Given the description of an element on the screen output the (x, y) to click on. 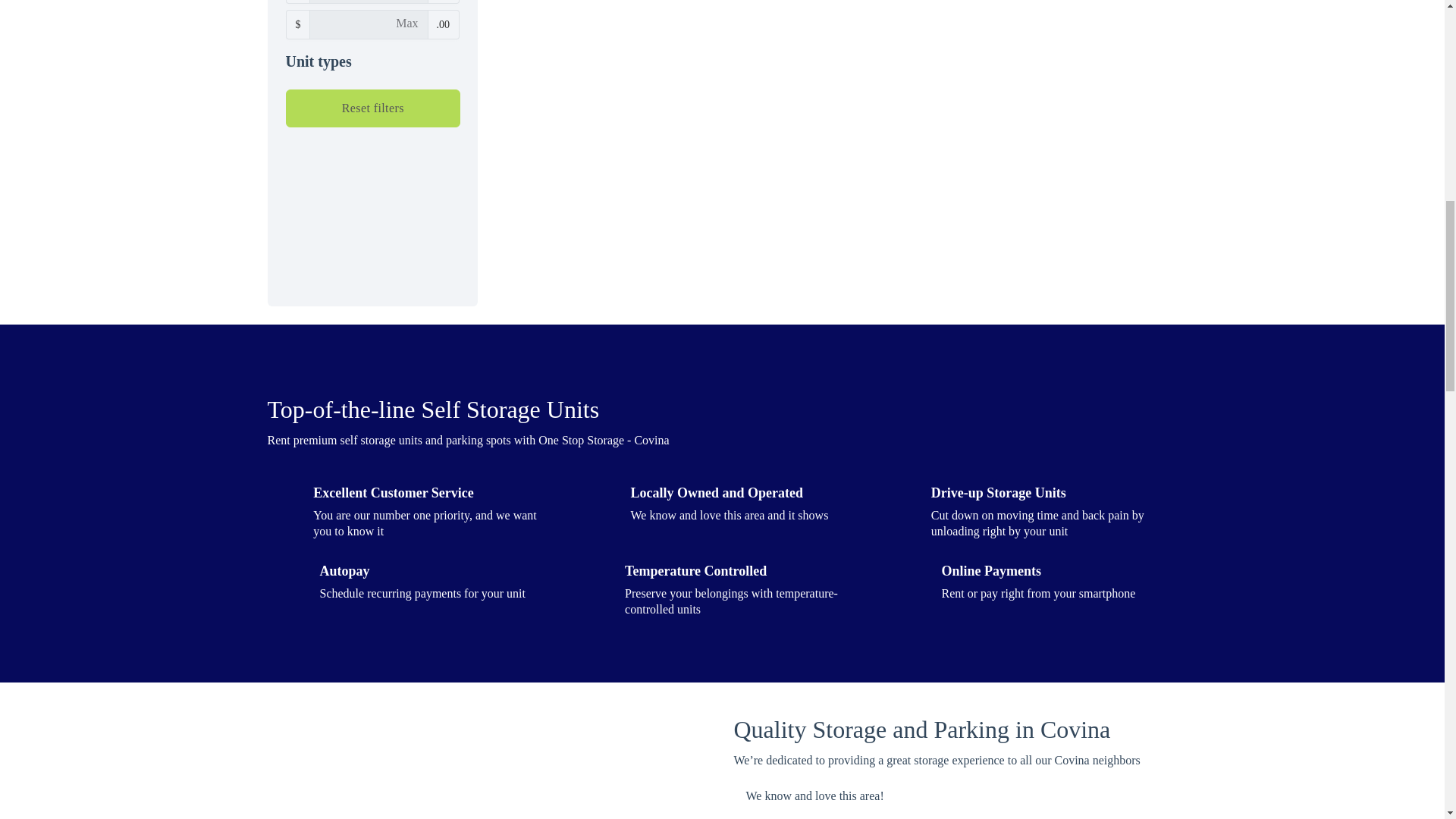
Reset filters (372, 108)
